Given the description of an element on the screen output the (x, y) to click on. 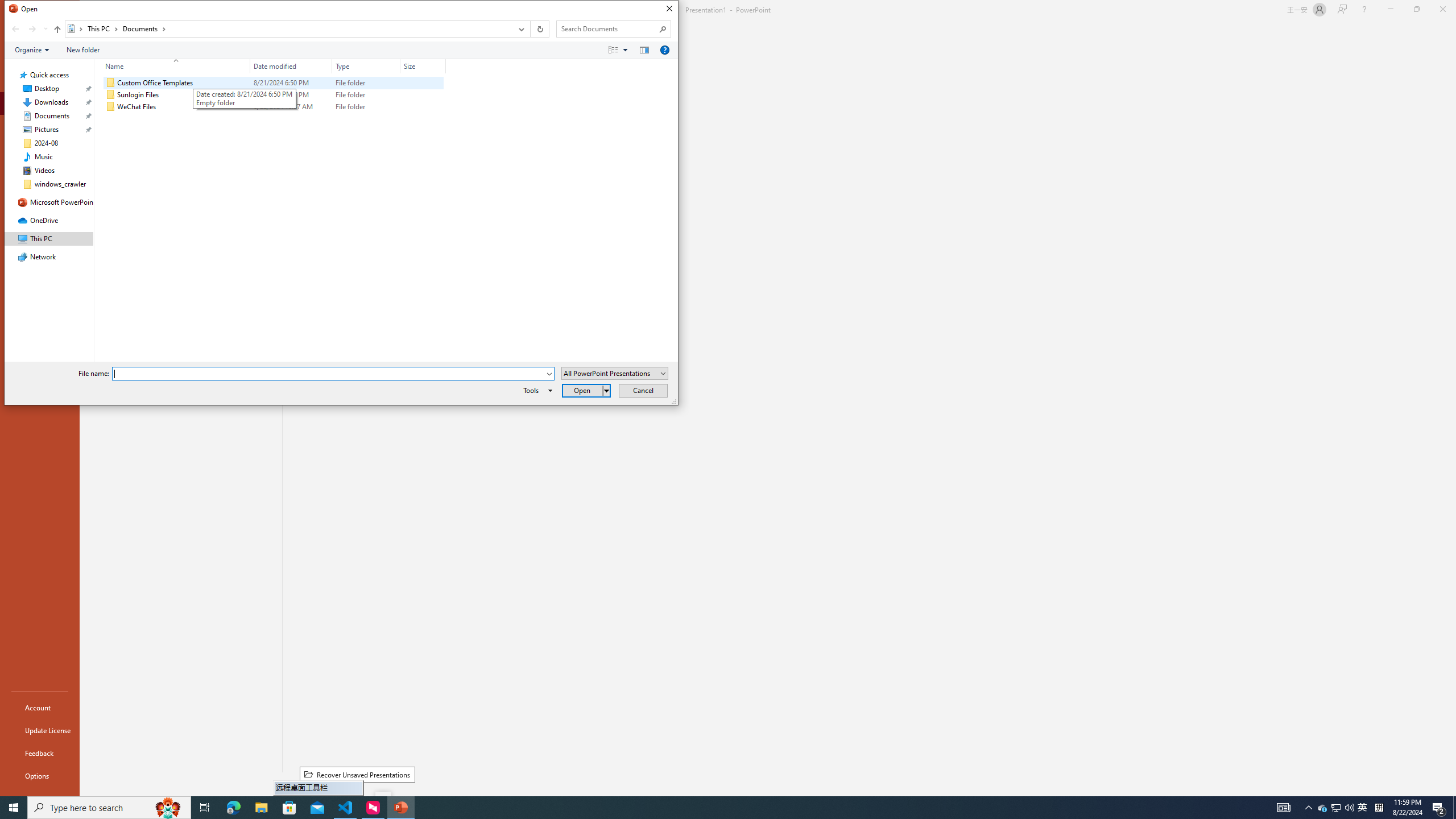
Up band toolbar (57, 30)
Refresh "Documents" (F5) (538, 28)
Name (183, 106)
Up to "This PC" (Alt + Up Arrow) (57, 29)
Organize (31, 49)
Address band toolbar (529, 28)
